Given the description of an element on the screen output the (x, y) to click on. 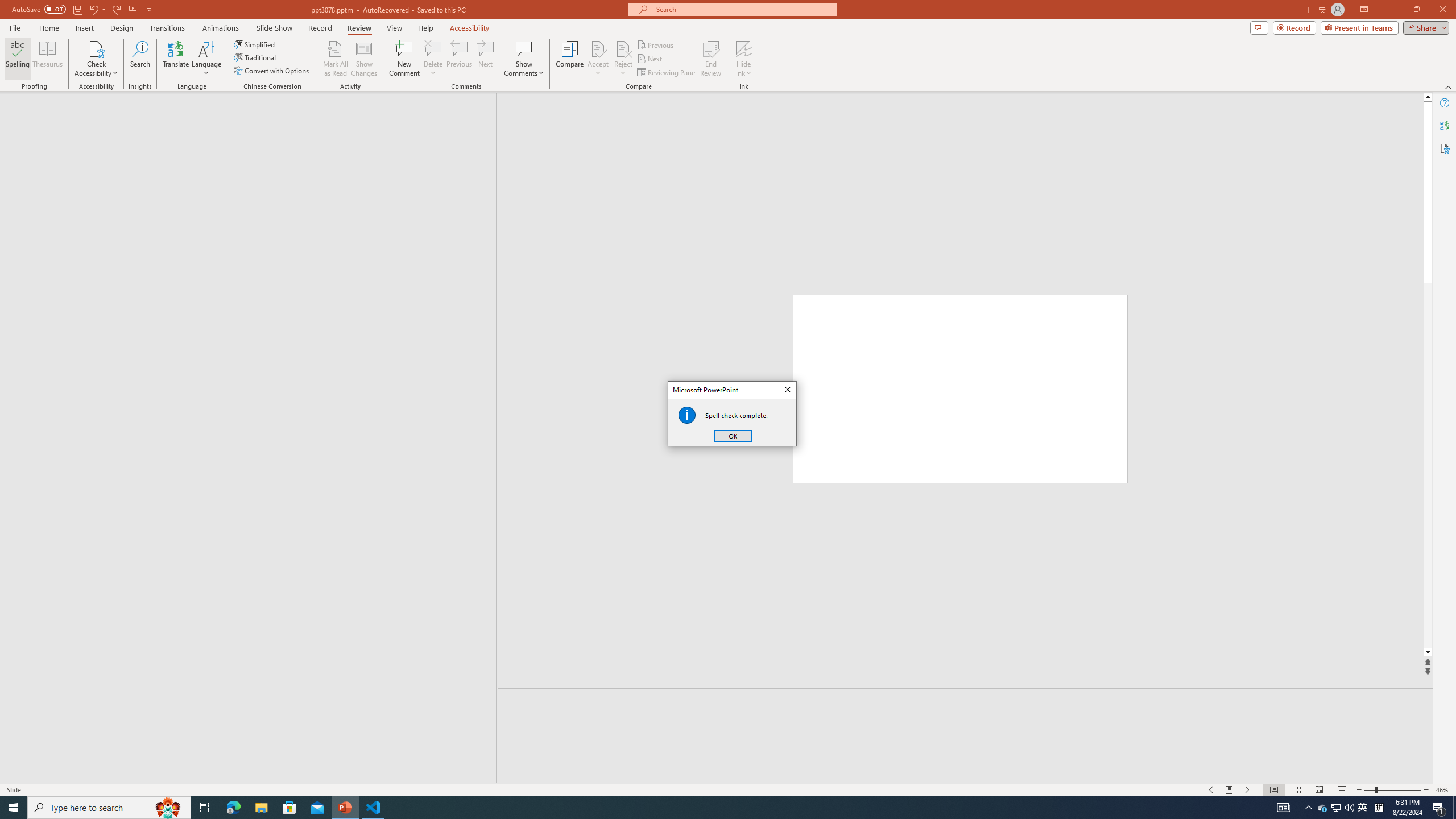
Reading View (1318, 790)
New Comment (403, 58)
Slide Notes (965, 705)
Slide Sorter (1296, 790)
Previous (655, 44)
Running applications (700, 807)
Start (13, 807)
Zoom In (1426, 790)
Class: MsoCommandBar (728, 789)
Tray Input Indicator - Chinese (Simplified, China) (1378, 807)
Zoom 46% (1443, 790)
Delete (432, 48)
PowerPoint - 1 running window (345, 807)
